Given the description of an element on the screen output the (x, y) to click on. 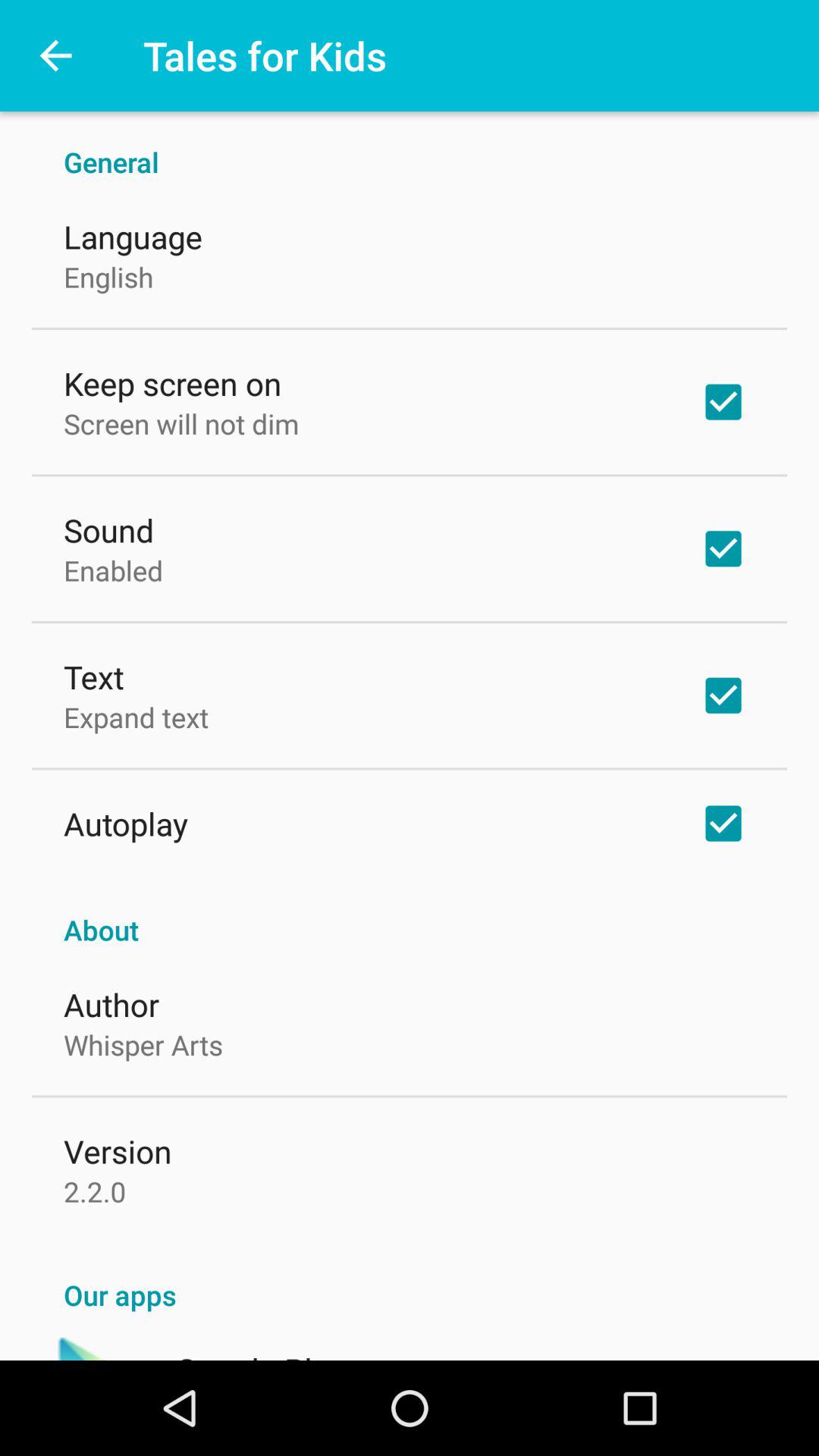
swipe to version item (117, 1150)
